Given the description of an element on the screen output the (x, y) to click on. 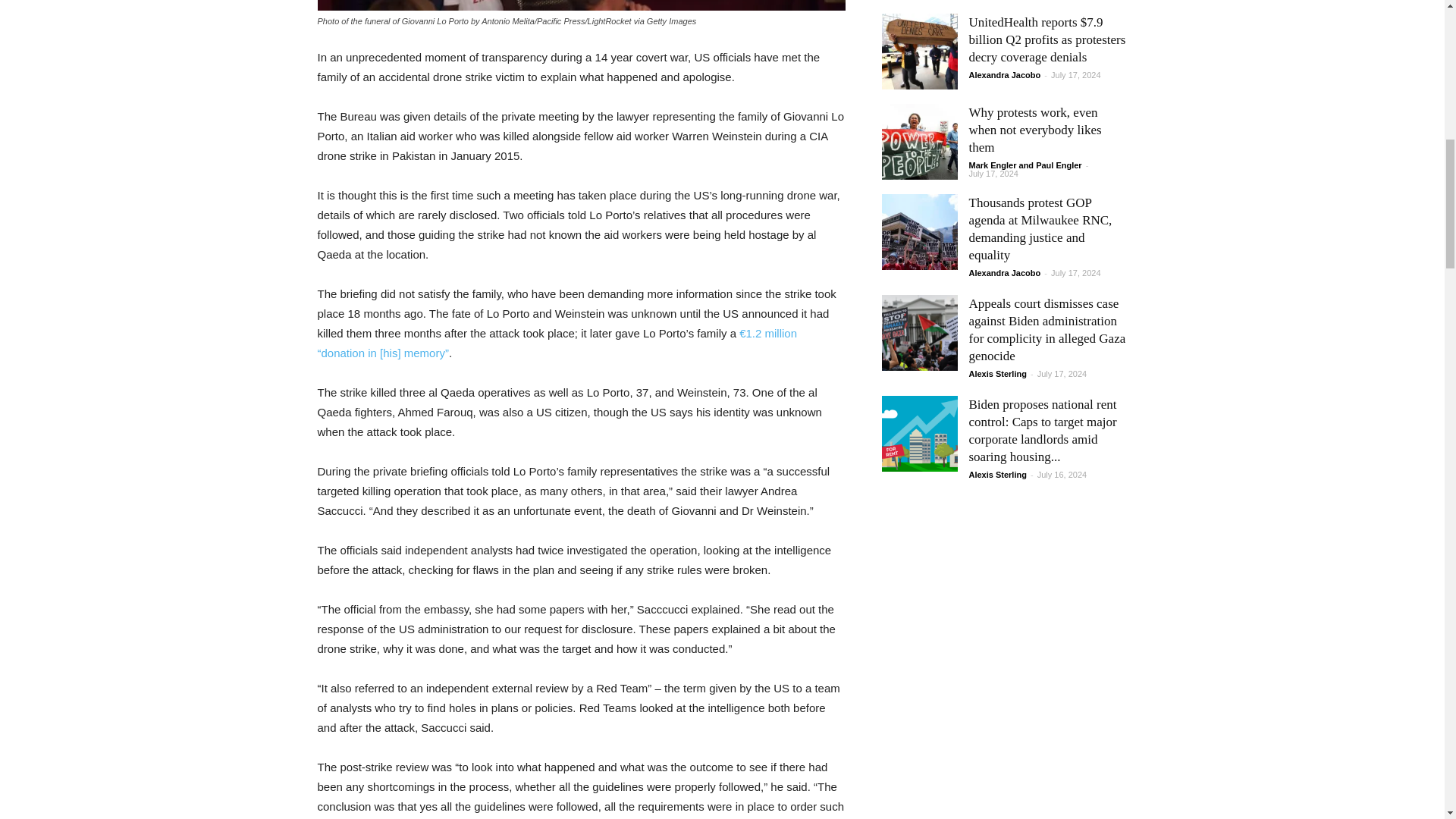
gettyimages-489067158-768x512 (580, 5)
